Given the description of an element on the screen output the (x, y) to click on. 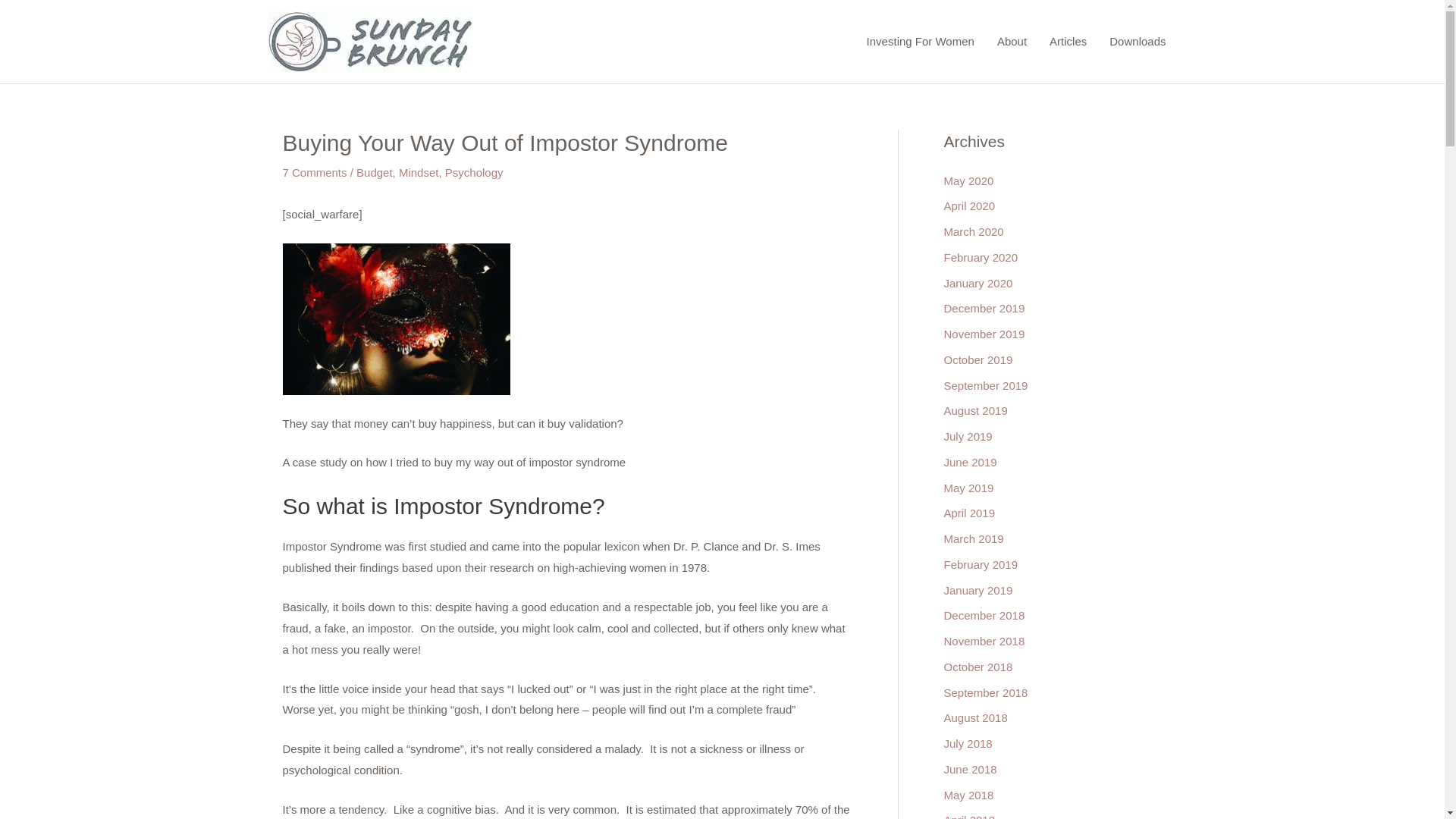
Investing For Women (920, 41)
Articles (1067, 41)
Downloads (1136, 41)
About (1011, 41)
Psychology (474, 172)
Mindset (418, 172)
7 Comments (314, 172)
Budget (374, 172)
